Given the description of an element on the screen output the (x, y) to click on. 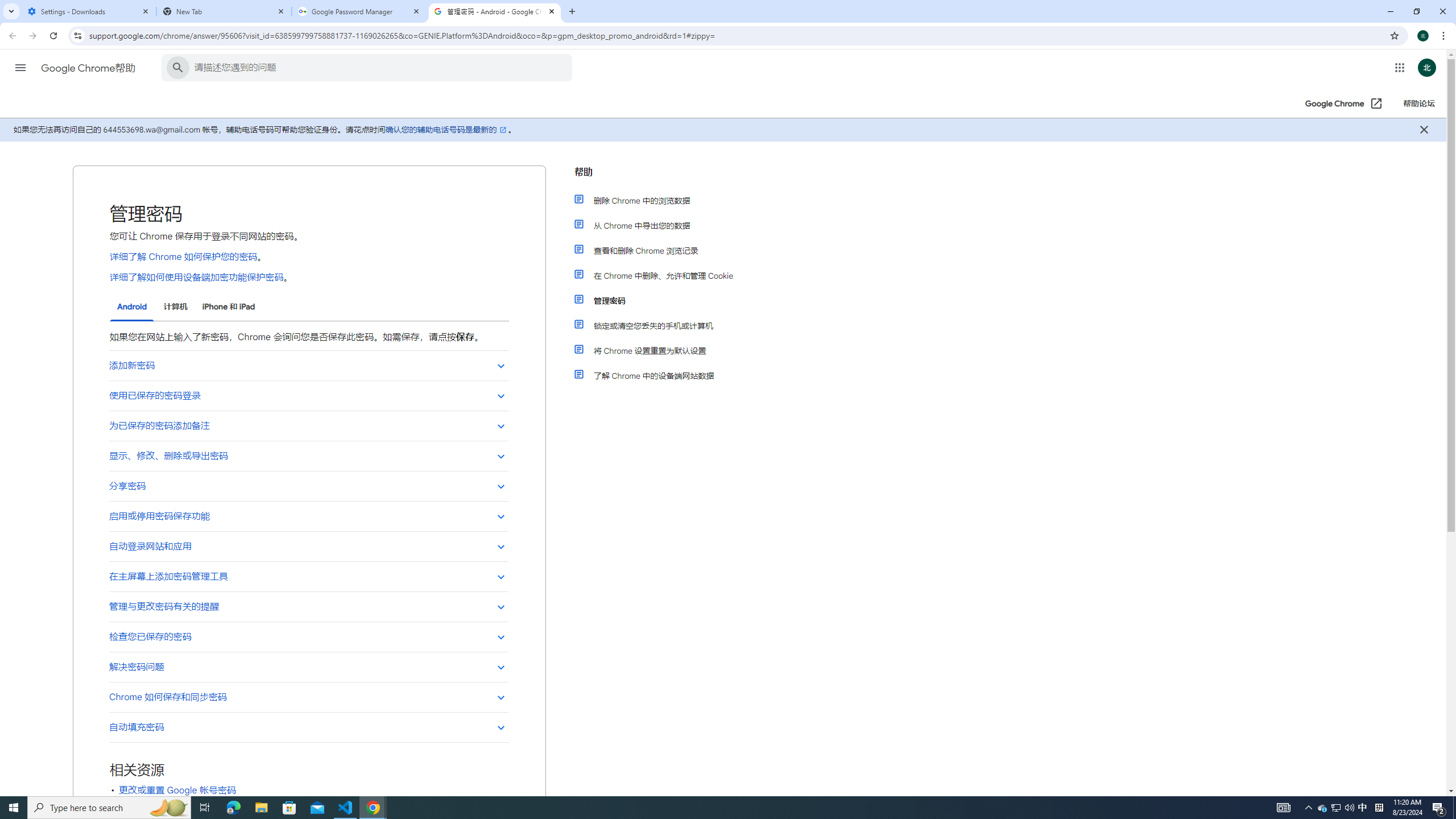
Android (131, 307)
New Tab (224, 11)
